Given the description of an element on the screen output the (x, y) to click on. 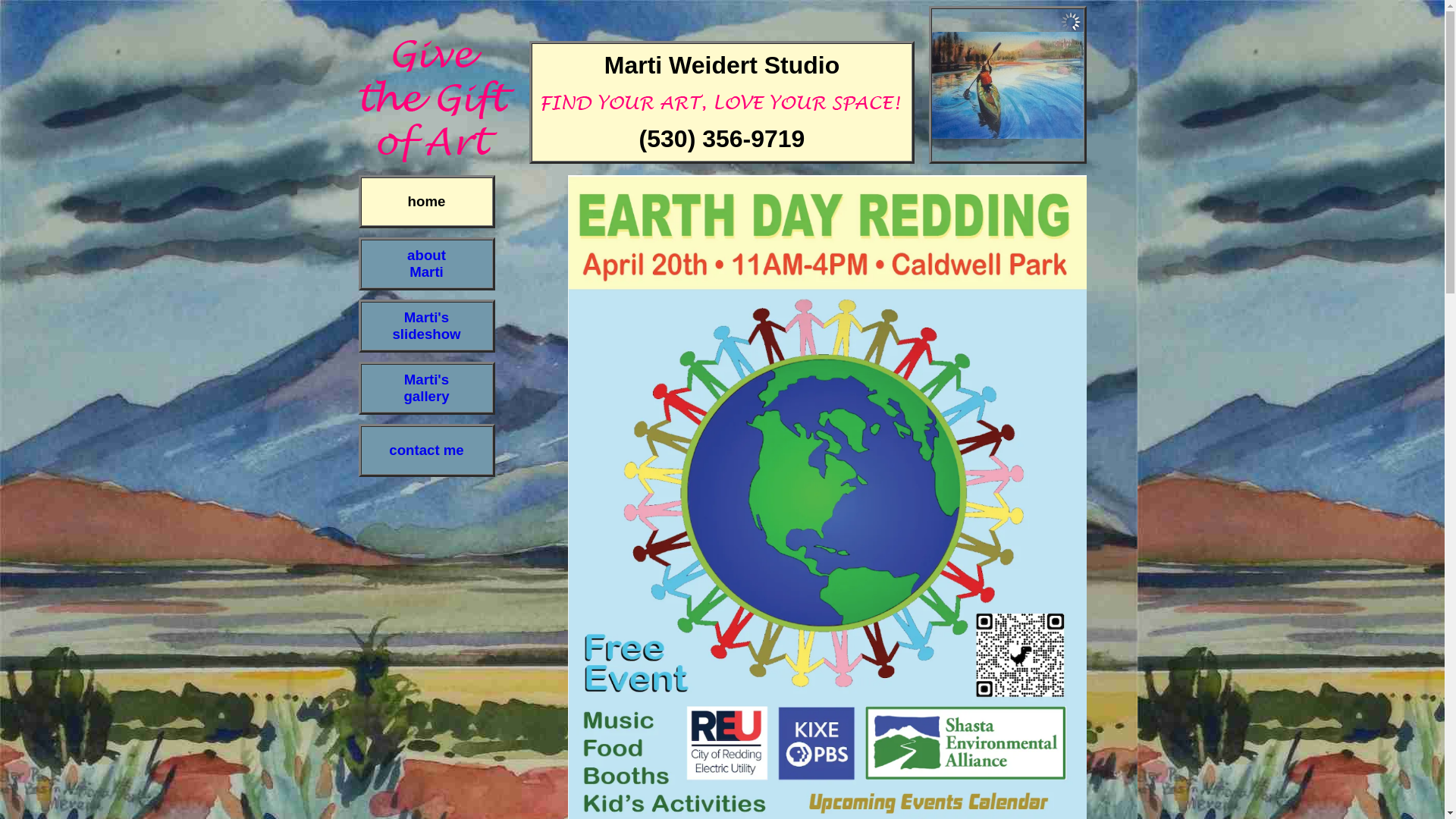
contact me (426, 449)
